Given the description of an element on the screen output the (x, y) to click on. 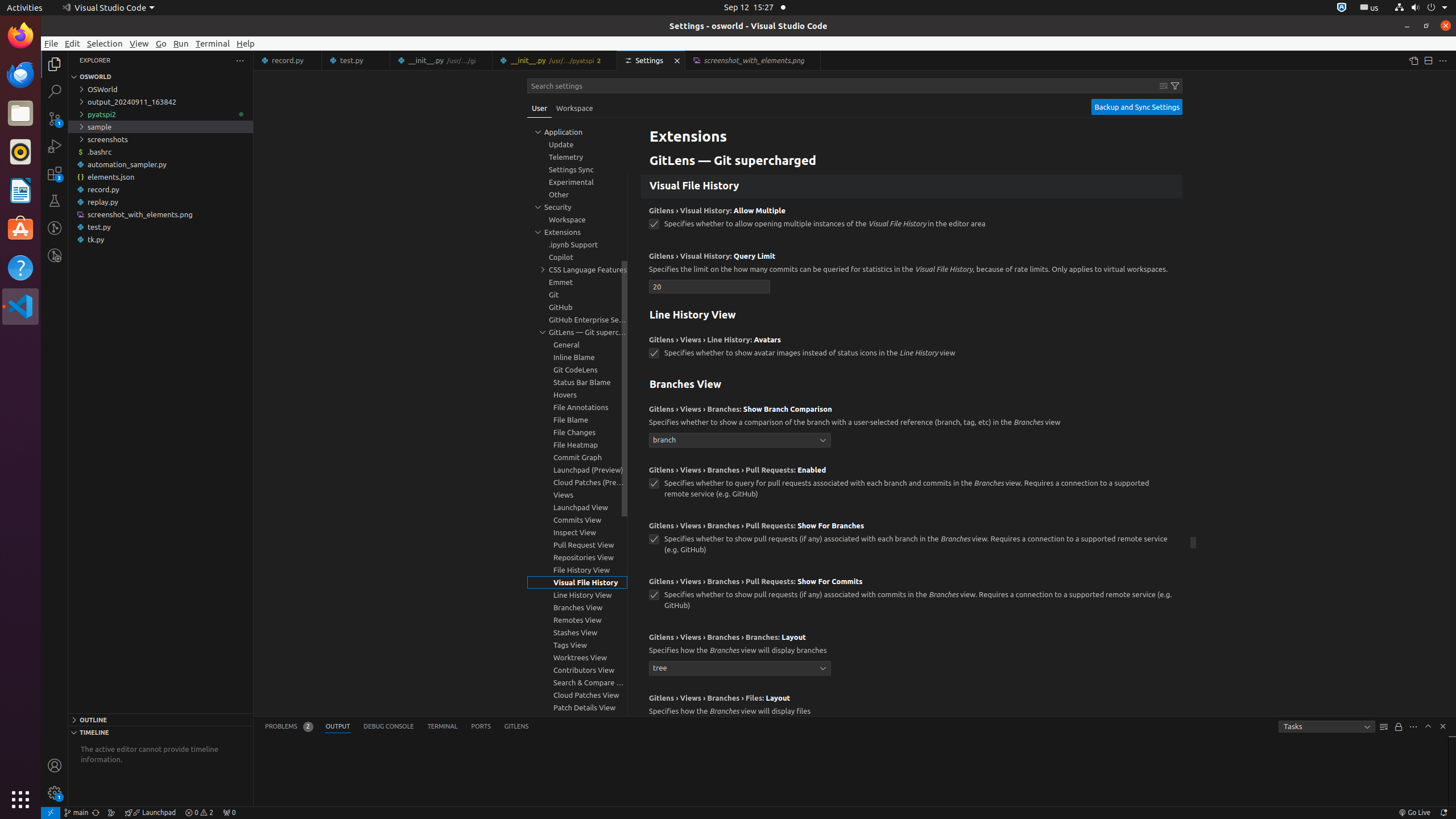
Branches View, group Element type: tree-item (577, 607)
GitLens Inspect Element type: page-tab (54, 255)
Hide Panel Element type: push-button (1442, 726)
File Annotations, group Element type: tree-item (577, 406)
